Given the description of an element on the screen output the (x, y) to click on. 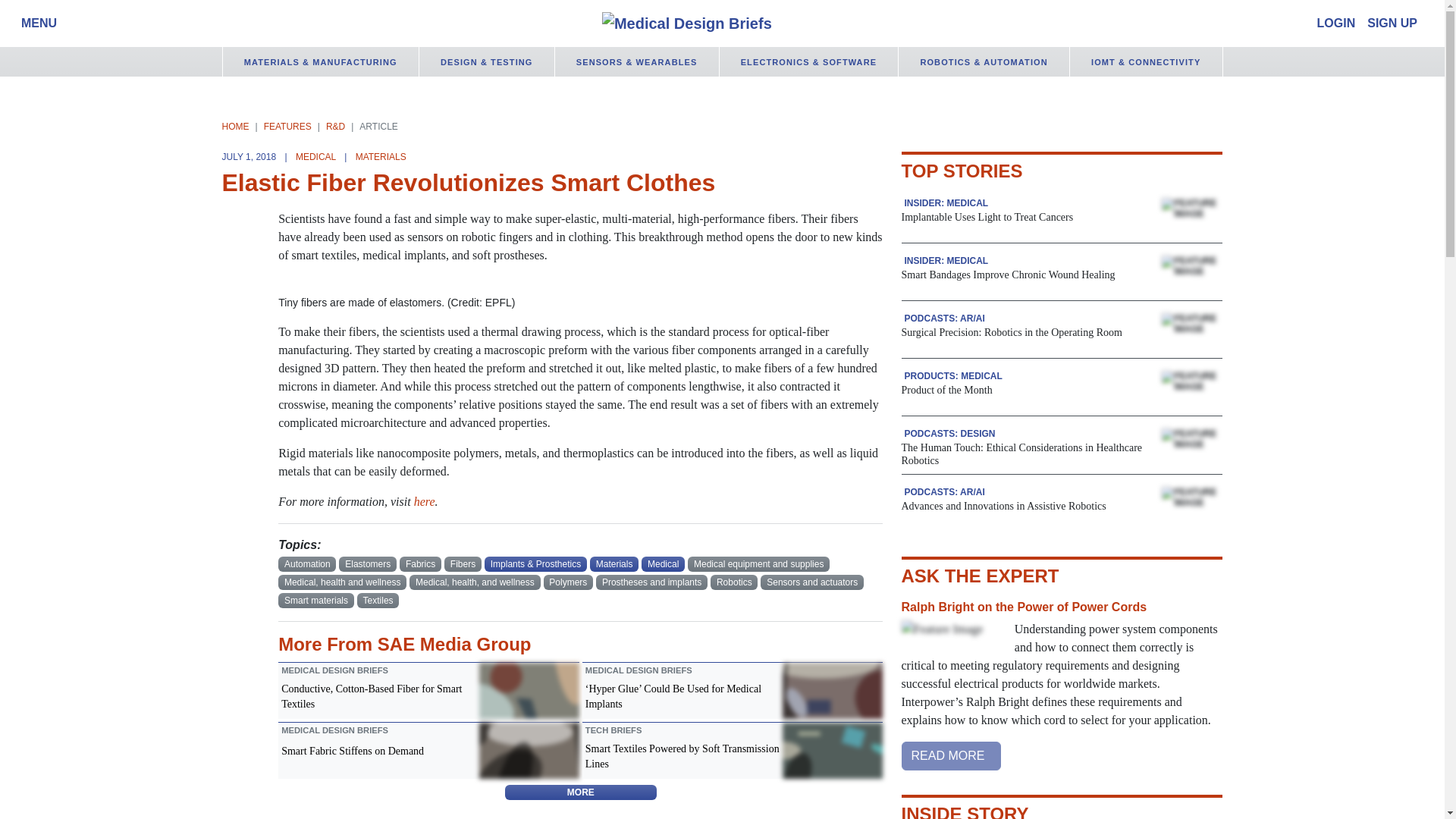
MENU (35, 23)
SIGN UP (1392, 22)
LOGIN (1336, 22)
